Given the description of an element on the screen output the (x, y) to click on. 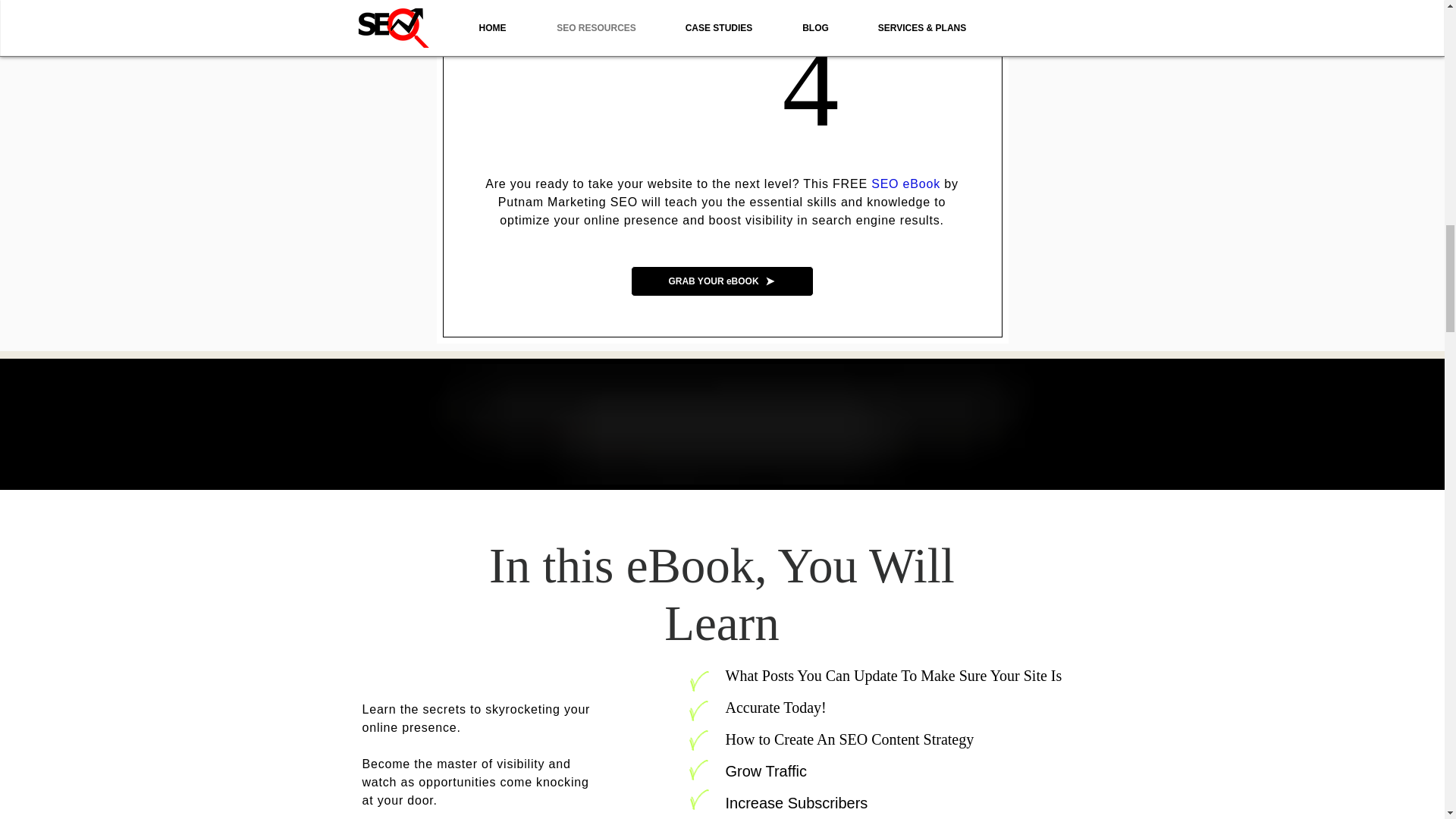
Kate Putnam SEO (729, 423)
SEO (623, 201)
GRAB YOUR eBOOK (721, 281)
Putnam Marketing (552, 201)
